Given the description of an element on the screen output the (x, y) to click on. 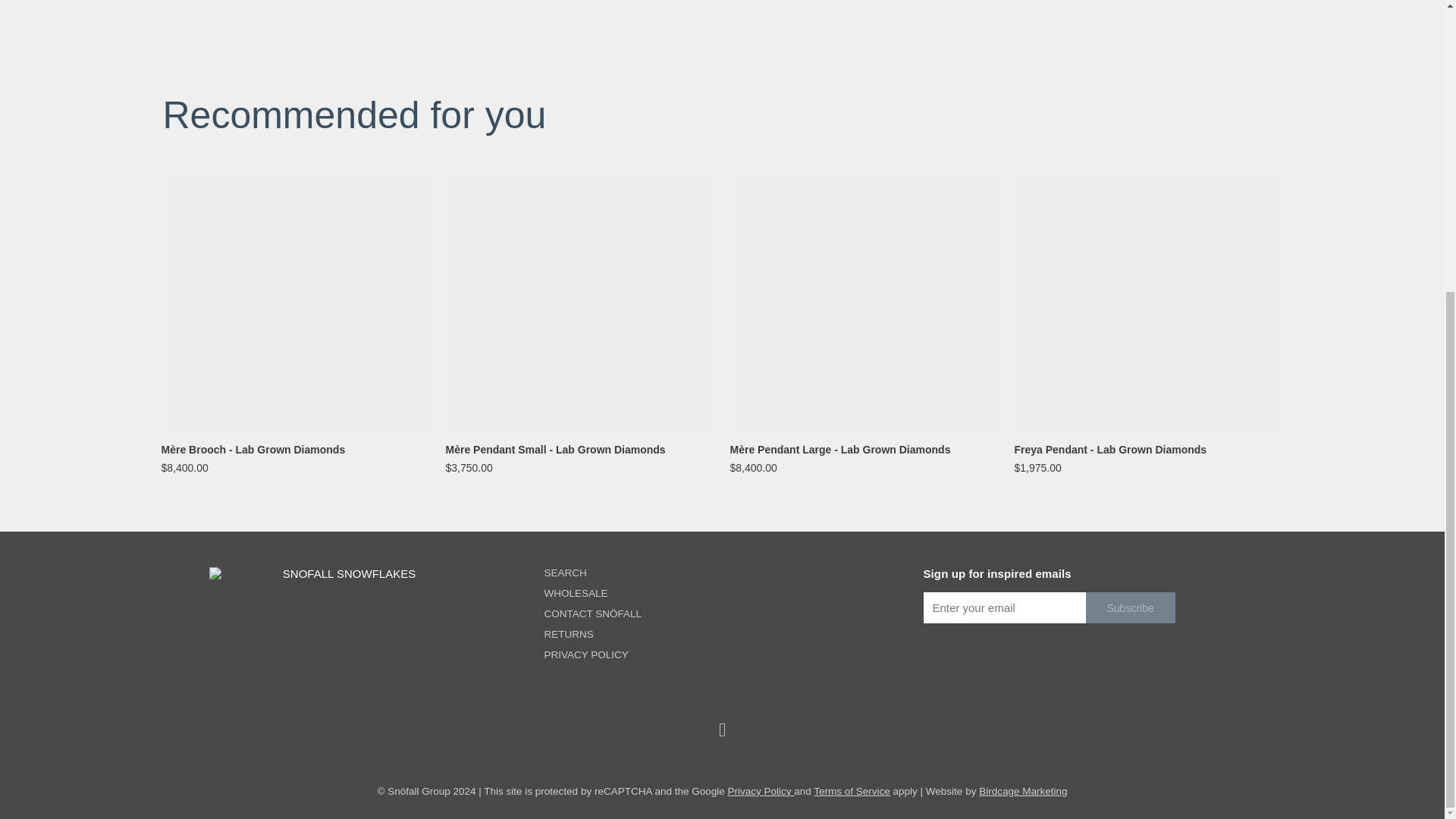
Birdcage Marketing (1022, 790)
Subscribe (1130, 607)
Terms of Service (851, 790)
Privacy Policy (759, 790)
WHOLESALE (593, 593)
Birdcage Marketing Website (1022, 790)
Freya Pendant - Lab Grown Diamonds (1149, 449)
PRIVACY POLICY (593, 654)
RETURNS (593, 633)
SEARCH (593, 572)
